Given the description of an element on the screen output the (x, y) to click on. 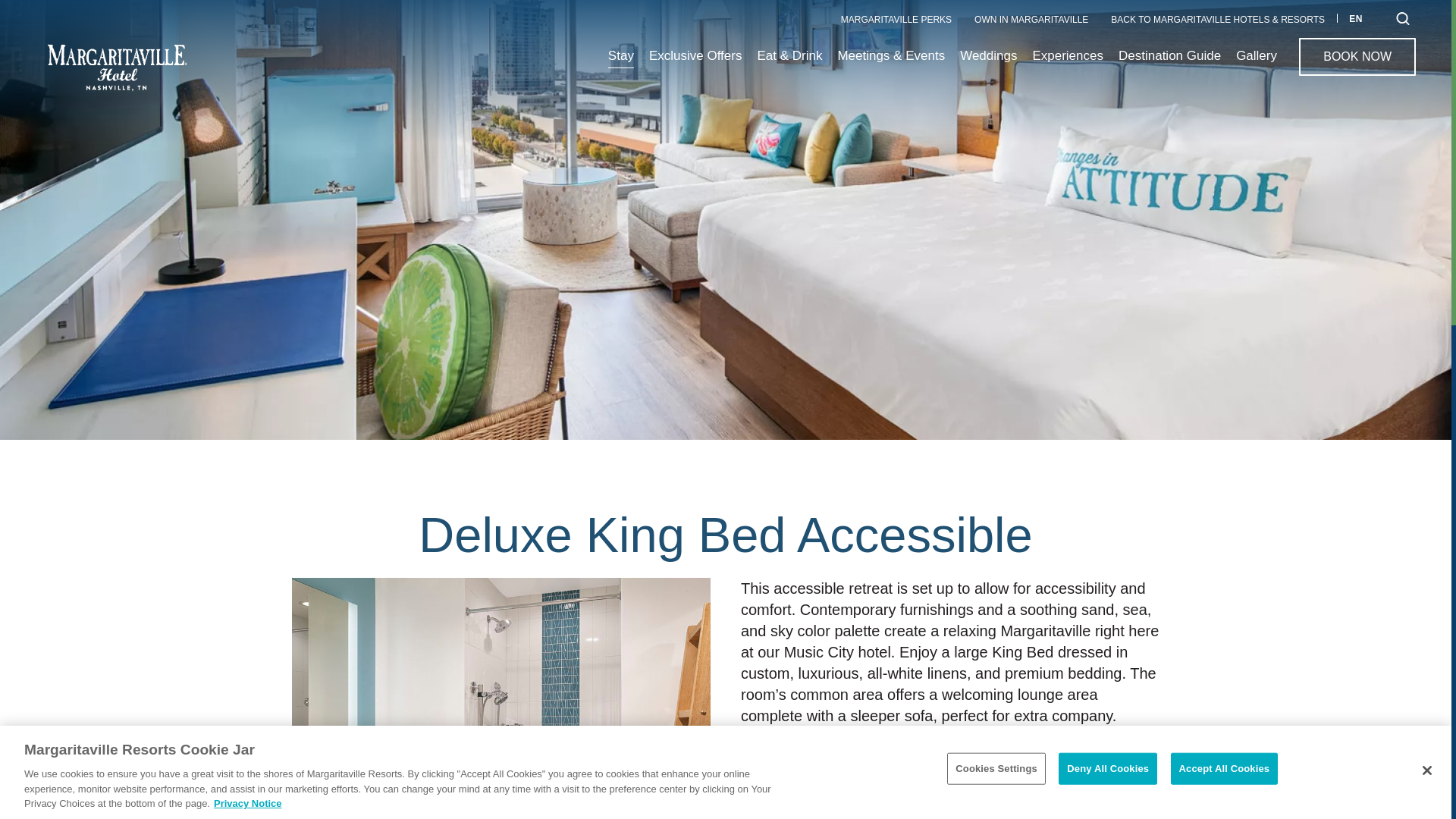
Exclusive Offers (695, 62)
Open search modal (1402, 18)
OWN IN MARGARITAVILLE (1030, 19)
Experiences (1367, 18)
MARGARITAVILLE PERKS (1067, 62)
Weddings (896, 19)
Stay (987, 62)
